Given the description of an element on the screen output the (x, y) to click on. 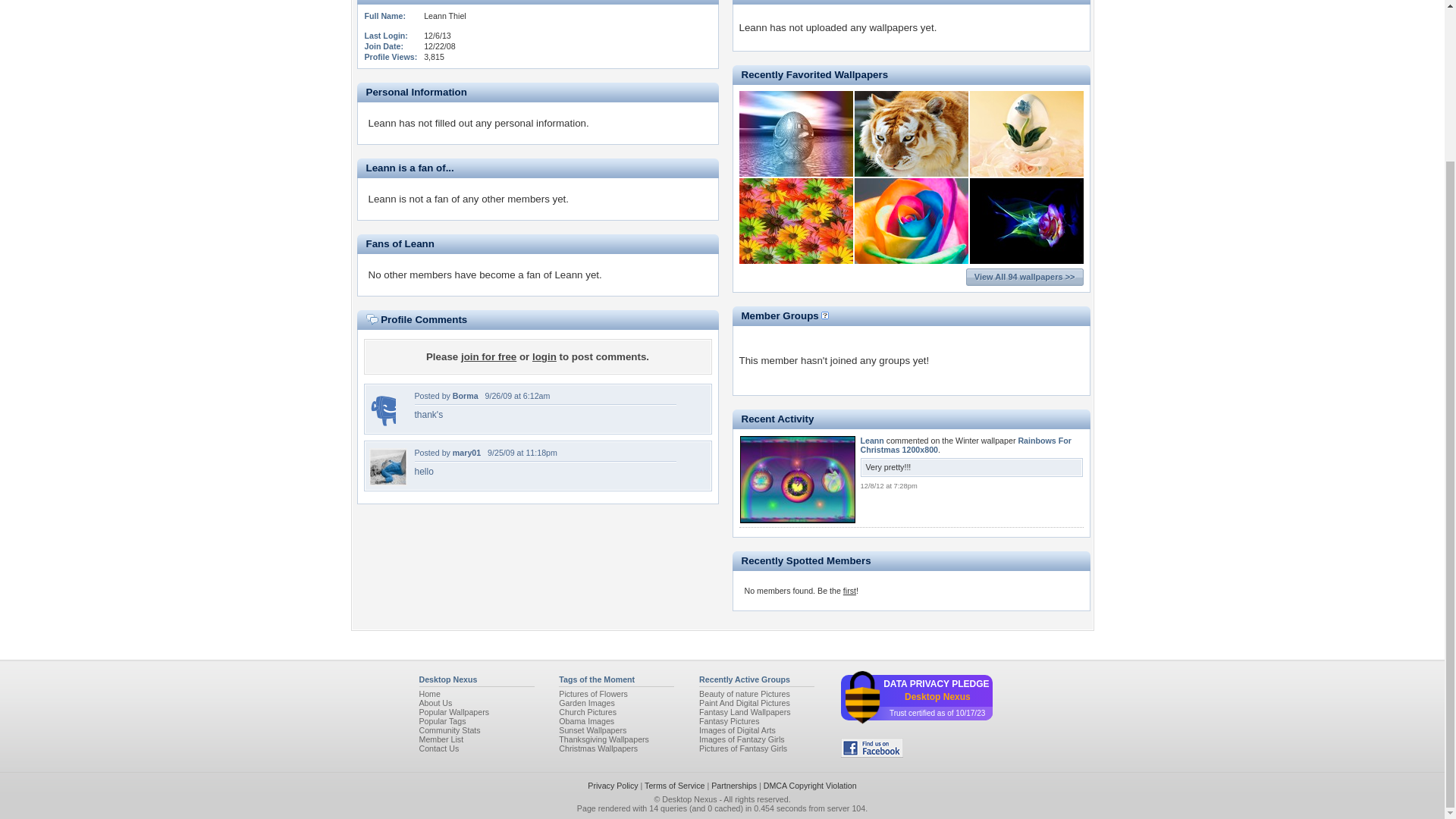
login (544, 356)
Borma (381, 425)
join for free (488, 356)
Borma (465, 395)
mary01 (466, 452)
Borma (465, 395)
mary01 (387, 482)
